Given the description of an element on the screen output the (x, y) to click on. 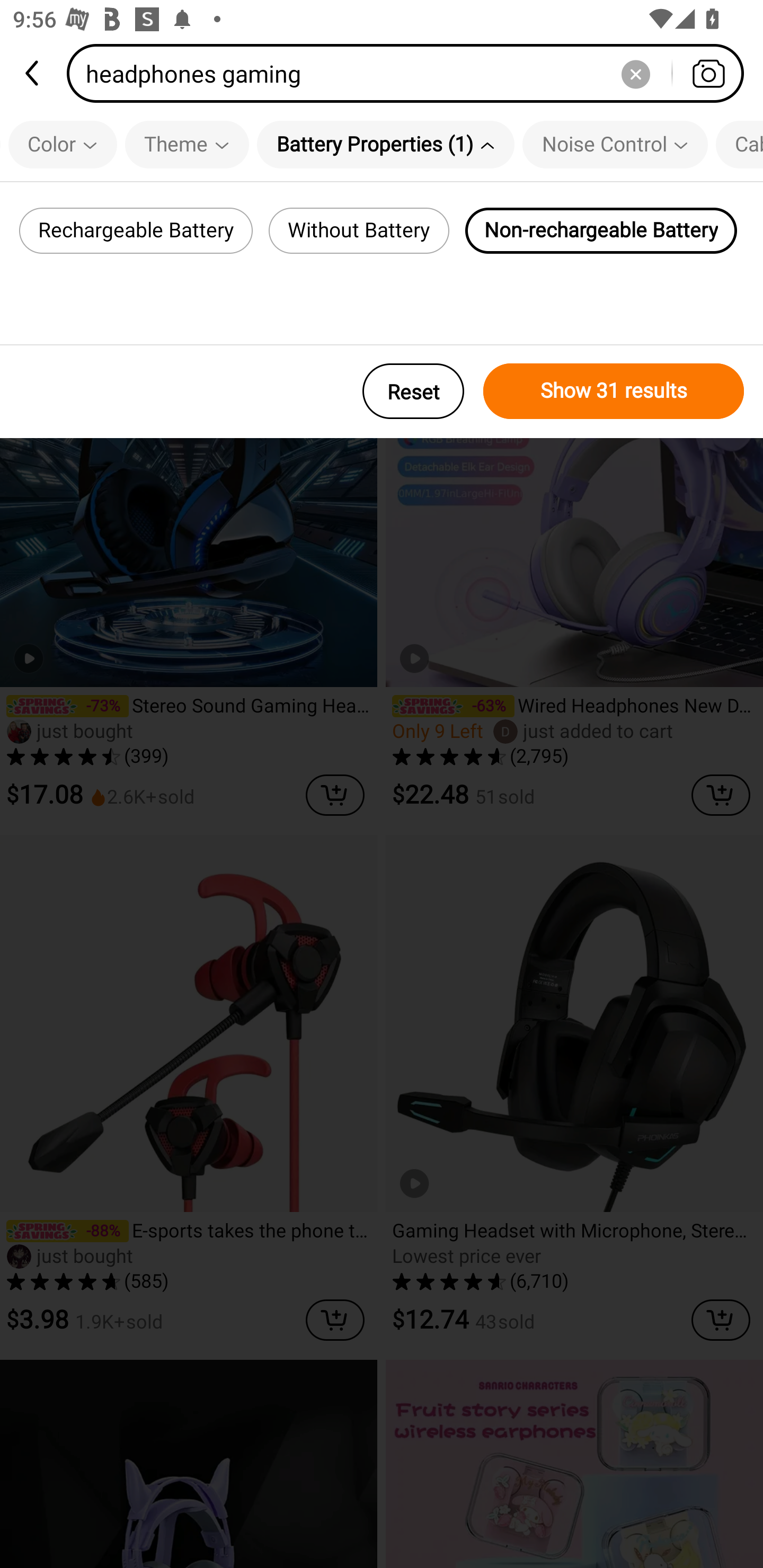
back (33, 72)
headphones gaming (411, 73)
Delete search history (635, 73)
Search by photo (708, 73)
Color (62, 143)
Theme (186, 143)
Battery Properties (1) (385, 143)
Noise Control (615, 143)
Rechargeable Battery (135, 230)
Without Battery (358, 230)
Non-rechargeable Battery (601, 230)
Reset (412, 390)
Show 31 results (612, 390)
